Given the description of an element on the screen output the (x, y) to click on. 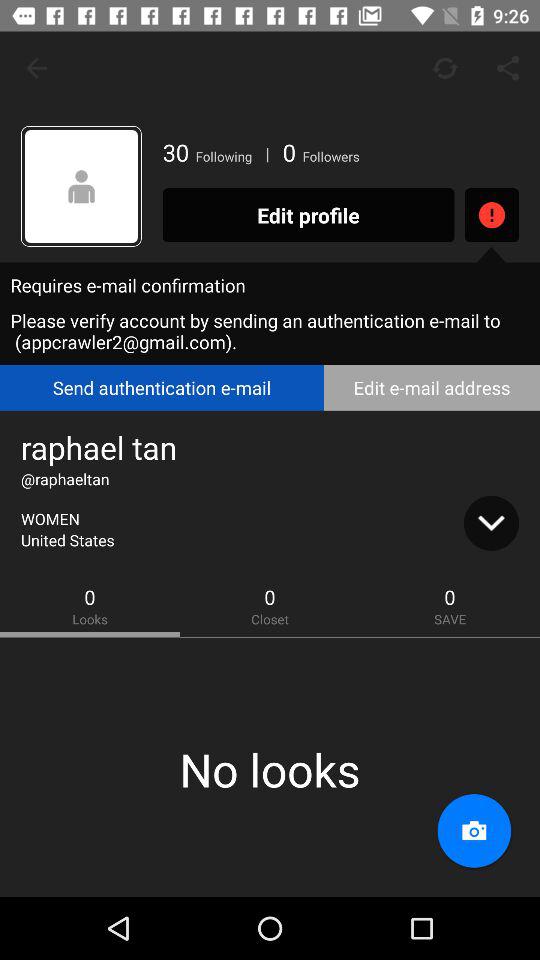
press icon below edit e mail (491, 523)
